Given the description of an element on the screen output the (x, y) to click on. 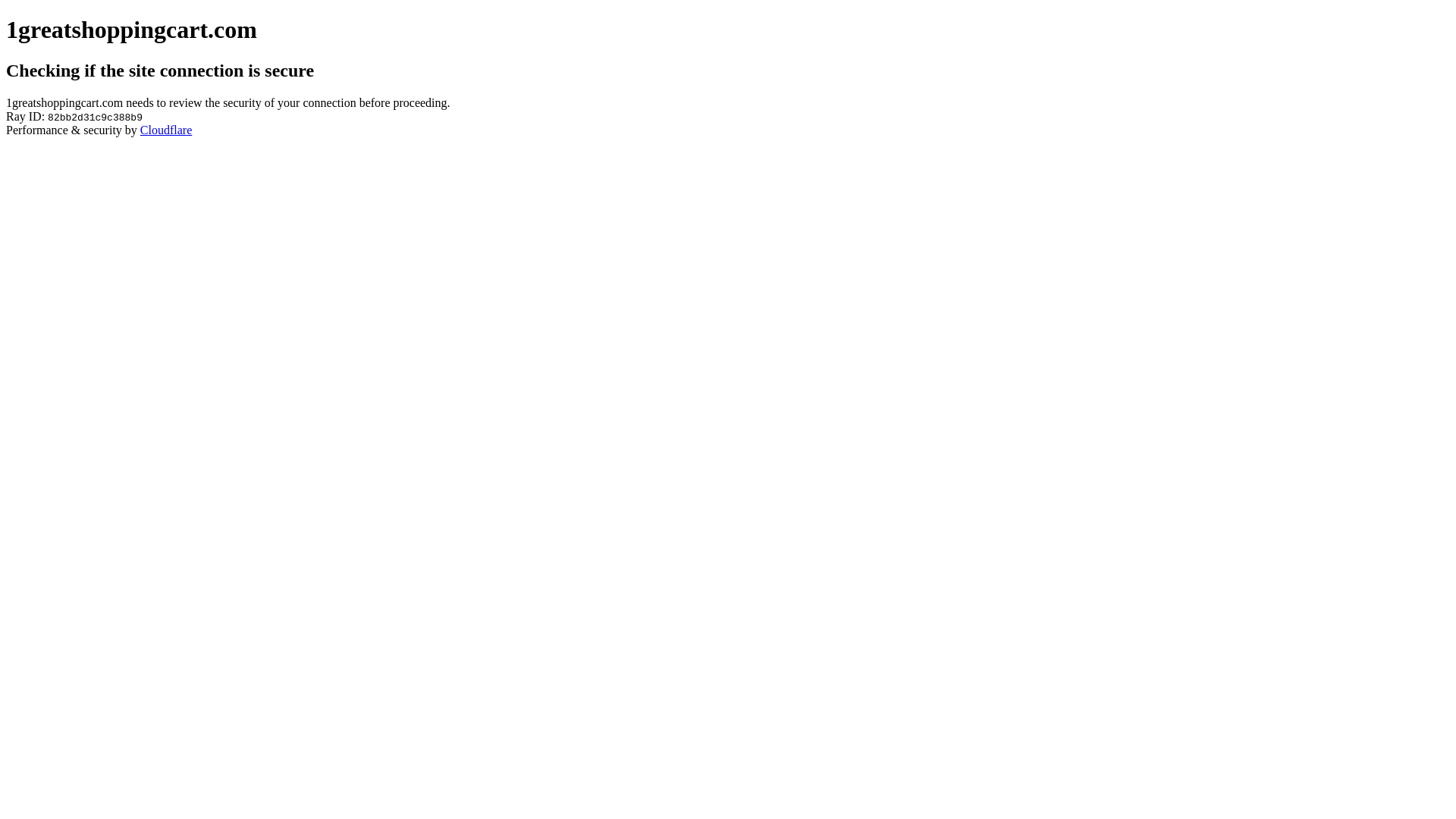
Cloudflare Element type: text (165, 129)
